Given the description of an element on the screen output the (x, y) to click on. 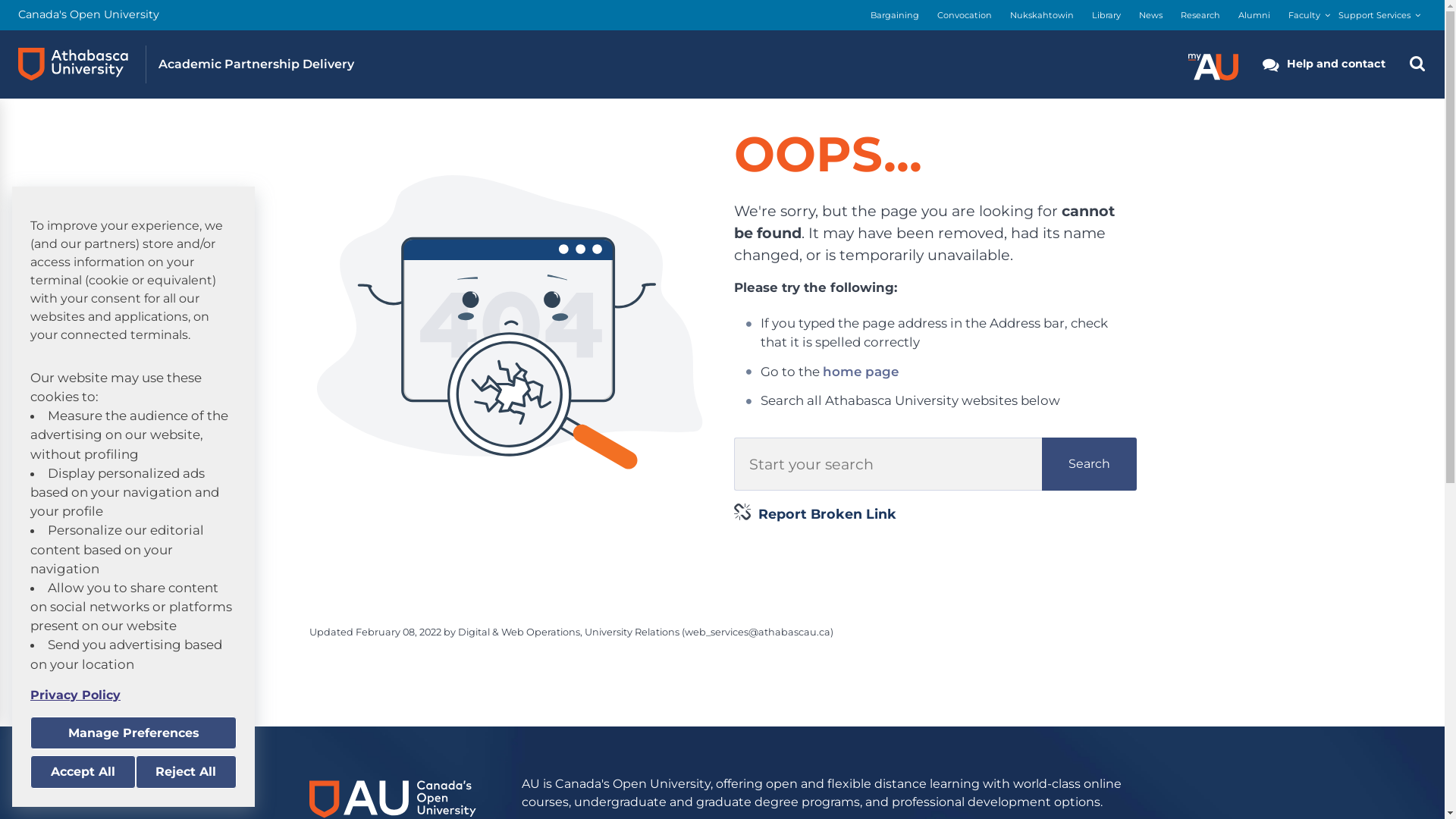
Help and contact Element type: text (1323, 64)
Accept All Element type: text (82, 771)
Faculty Element type: text (1304, 15)
Athabasca University logo Element type: text (73, 64)
home page Element type: text (860, 371)
Convocation Element type: text (964, 15)
Manage Preferences Element type: text (133, 732)
Library Element type: text (1106, 15)
Nukskahtowin Element type: text (1041, 15)
News Element type: text (1150, 15)
Bargaining Element type: text (894, 15)
Privacy Policy Element type: text (133, 695)
Support Services Element type: text (1374, 15)
Search the Athabasca University Website Element type: hover (1417, 64)
Search Element type: text (1088, 463)
Research Element type: text (1200, 15)
Alumni Element type: text (1254, 15)
Reject All Element type: text (185, 771)
